Given the description of an element on the screen output the (x, y) to click on. 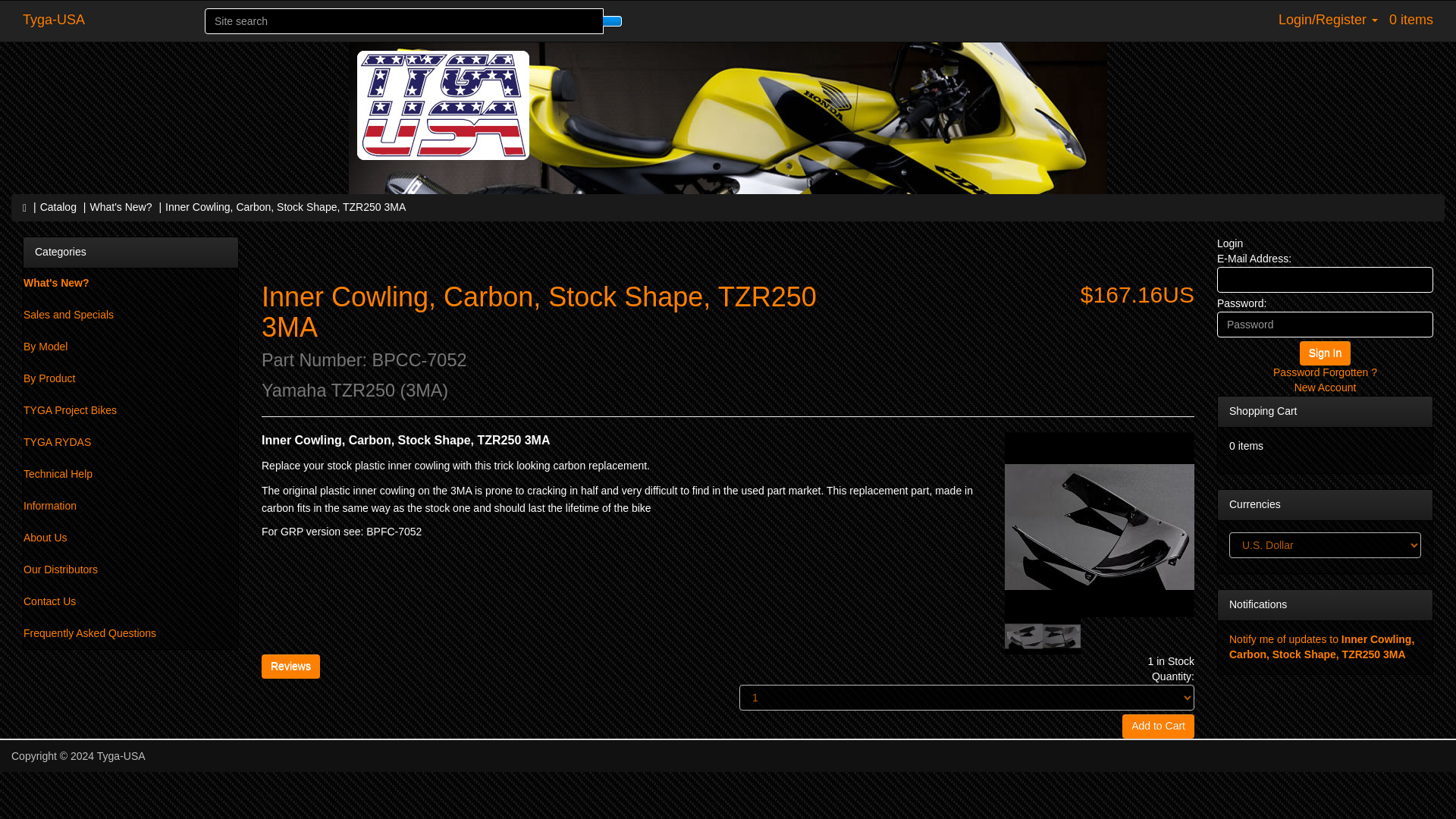
Shopping Cart (1262, 410)
TYGA RYDAS (130, 442)
Our Distributors (130, 570)
Inner Cowling, Carbon, Stock Shape, TZR250 3MA 3 (1061, 636)
Catalog (58, 206)
Inner Cowling, Carbon, Stock Shape, TZR250 3MA (285, 206)
By Product (130, 378)
Frequently Asked Questions (130, 634)
Inner Cowling, Carbon, Stock Shape, TZR250 3MA 1 (1098, 526)
0 items (1416, 19)
By Model (130, 347)
Inner Cowling, Carbon, Stock Shape, TZR250 3MA 2 (1023, 636)
Technical Help (130, 474)
TYGA Project Bikes (130, 410)
What's New? (130, 283)
